Given the description of an element on the screen output the (x, y) to click on. 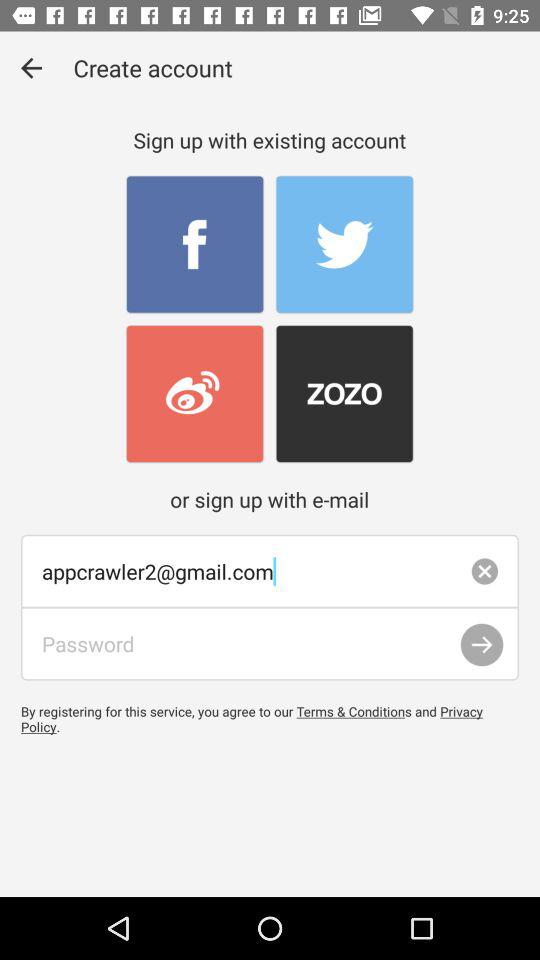
turn on icon below the appcrawler2@gmail.com item (270, 643)
